Given the description of an element on the screen output the (x, y) to click on. 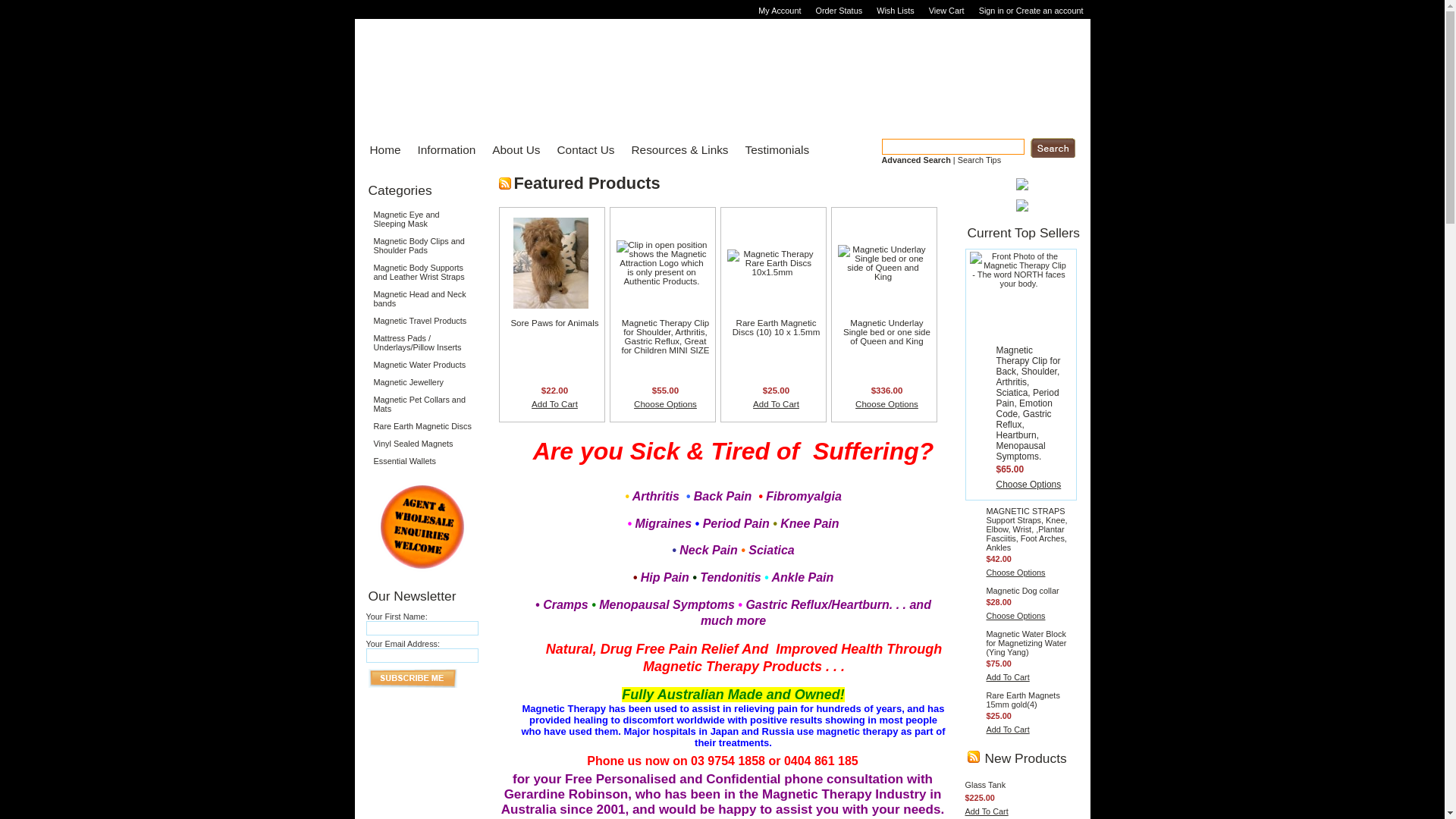
Add To Cart Element type: text (1007, 729)
Add To Cart Element type: text (985, 810)
My Account Element type: text (781, 10)
Choose Options Element type: text (1014, 572)
Magnetic Eye and Sleeping Mask Element type: text (422, 219)
Choose Options Element type: text (886, 403)
About Us Element type: text (511, 149)
Home Element type: text (380, 149)
Magnetic Pet Collars and Mats Element type: text (422, 404)
Magnetic Head and Neck bands Element type: text (422, 298)
Magnetic Water Products Element type: text (422, 364)
Add To Cart Element type: text (776, 403)
Information Element type: text (441, 149)
Choose Options Element type: text (1028, 484)
Create an account Element type: text (1049, 10)
Choose Options Element type: text (1014, 615)
Add To Cart Element type: text (554, 403)
Sign in Element type: text (991, 10)
Sore Paws for Animals Element type: text (554, 322)
Glass Tank Element type: text (984, 784)
Order Status Element type: text (840, 10)
Magnetic Underlay Single bed or one side of Queen and King Element type: text (886, 331)
Contact Us Element type: text (581, 149)
Testimonials Element type: text (772, 149)
Magnetic Jewellery Element type: text (422, 381)
Featured Products RSS Feed Element type: hover (504, 183)
Magnetic Body Supports and Leather Wrist Straps Element type: text (422, 272)
View Cart Element type: text (948, 10)
Choose Options Element type: text (664, 403)
Search Tips Element type: text (979, 159)
New Products RSS Feed Element type: hover (973, 756)
Wish Lists Element type: text (897, 10)
Advanced Search Element type: text (915, 159)
Rare Earth Magnetic Discs (10) 10 x 1.5mm Element type: text (776, 327)
Vinyl Sealed Magnets Element type: text (422, 443)
Rare Earth Magnets 15mm gold(4) Element type: text (1022, 699)
Essential Wallets Element type: text (422, 460)
Rare Earth Magnetic Discs Element type: text (422, 425)
Magnetic Travel Products Element type: text (422, 320)
Mattress Pads / Underlays/Pillow Inserts Element type: text (422, 342)
Magnetic Dog collar Element type: text (1021, 590)
Resources & Links Element type: text (674, 149)
Add To Cart Element type: text (1007, 676)
Magnetic Water Block for Magnetizing Water (Ying Yang) Element type: text (1025, 642)
